Given the description of an element on the screen output the (x, y) to click on. 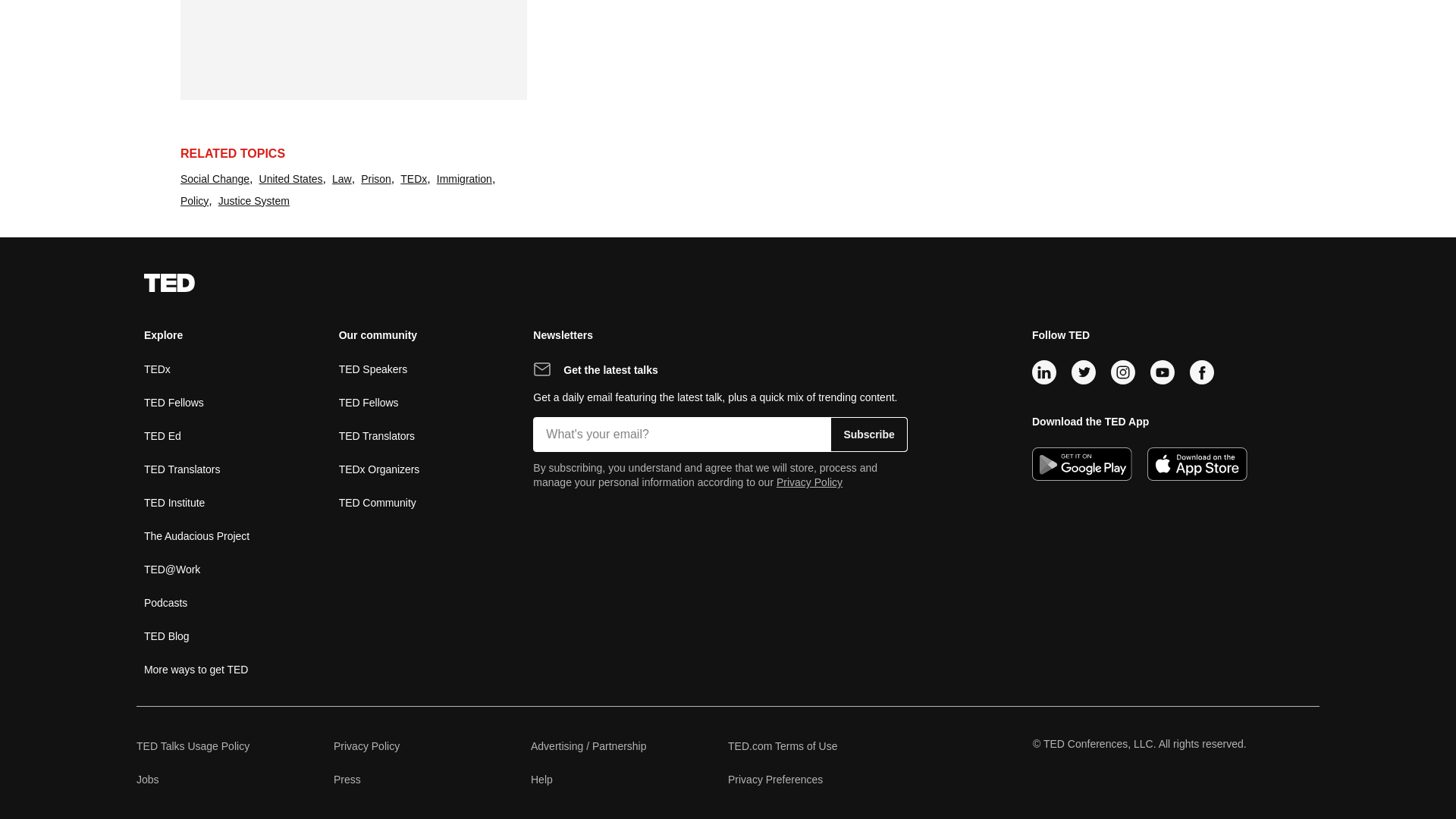
Law (341, 179)
TEDx (157, 368)
Prison (376, 179)
TED Translators (181, 468)
TED Ed (162, 435)
TEDx (413, 179)
Immigration (464, 179)
TED Fellows (173, 401)
United States (291, 179)
Social Change (214, 179)
Policy (194, 201)
Justice System (253, 201)
TED Institute (174, 502)
